Given the description of an element on the screen output the (x, y) to click on. 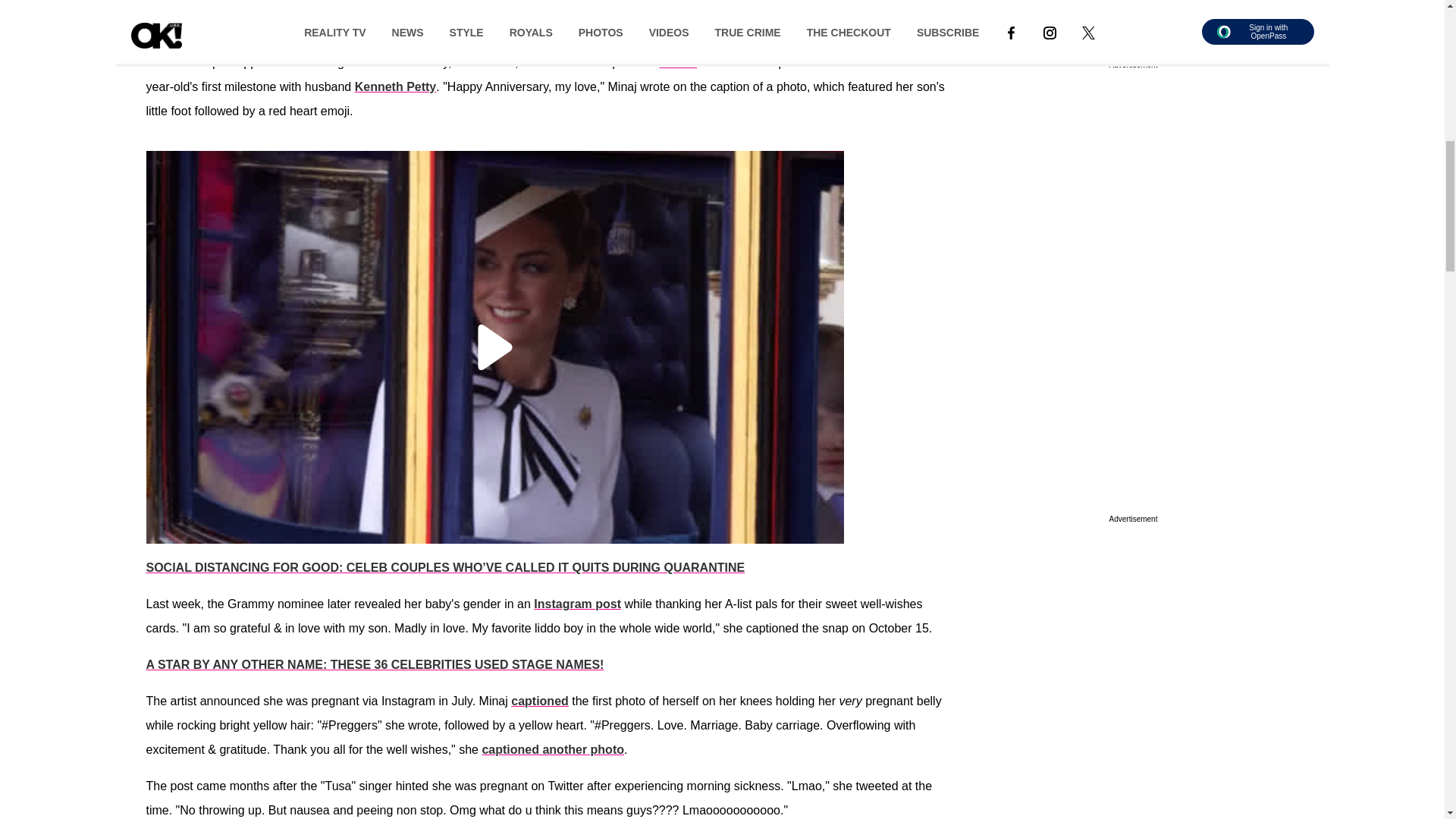
her tot (678, 62)
Nicki Minaj (177, 25)
